Given the description of an element on the screen output the (x, y) to click on. 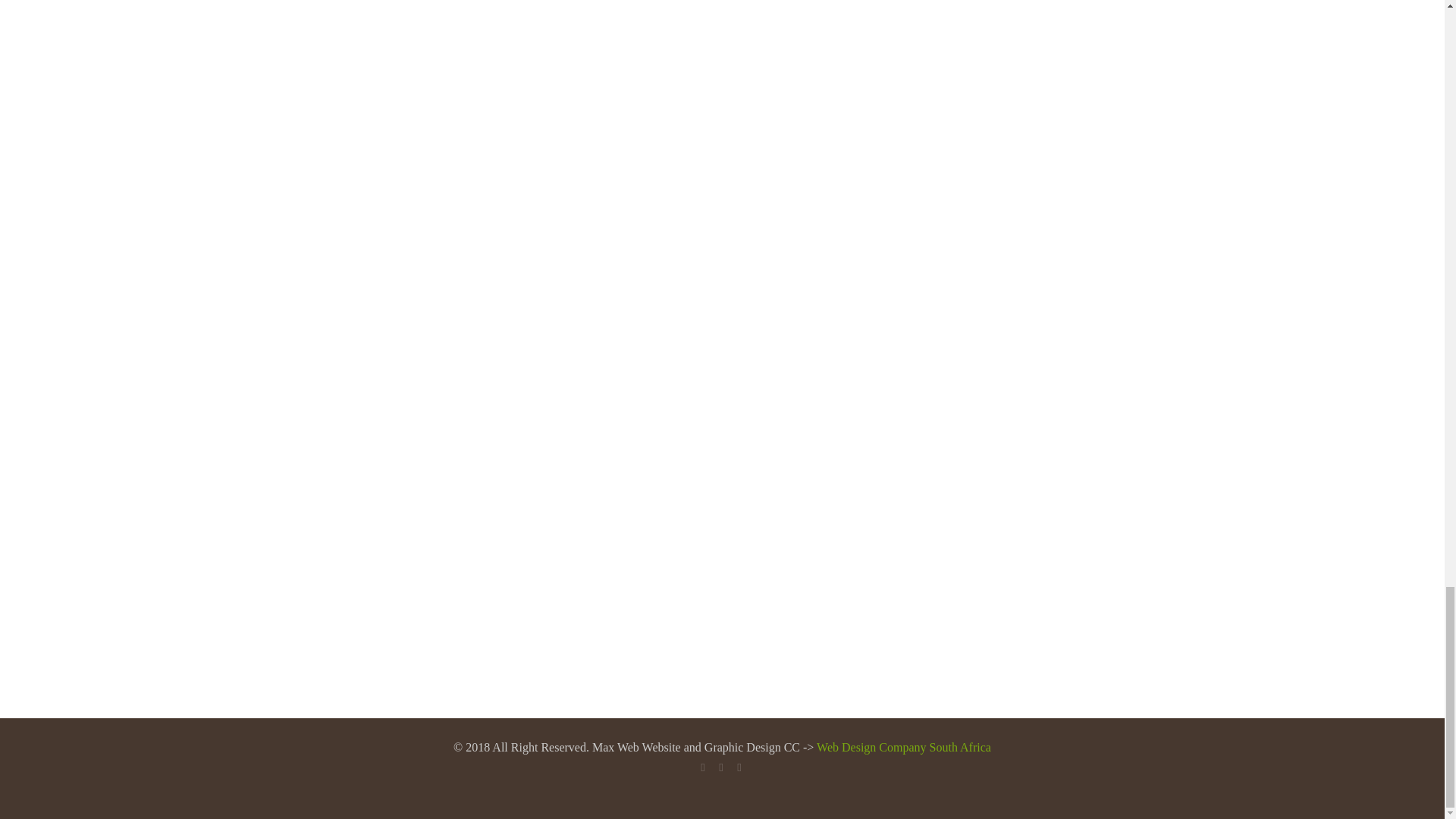
Facebook (704, 767)
Web Design Company South Africa (903, 747)
YouTube (722, 767)
